Given the description of an element on the screen output the (x, y) to click on. 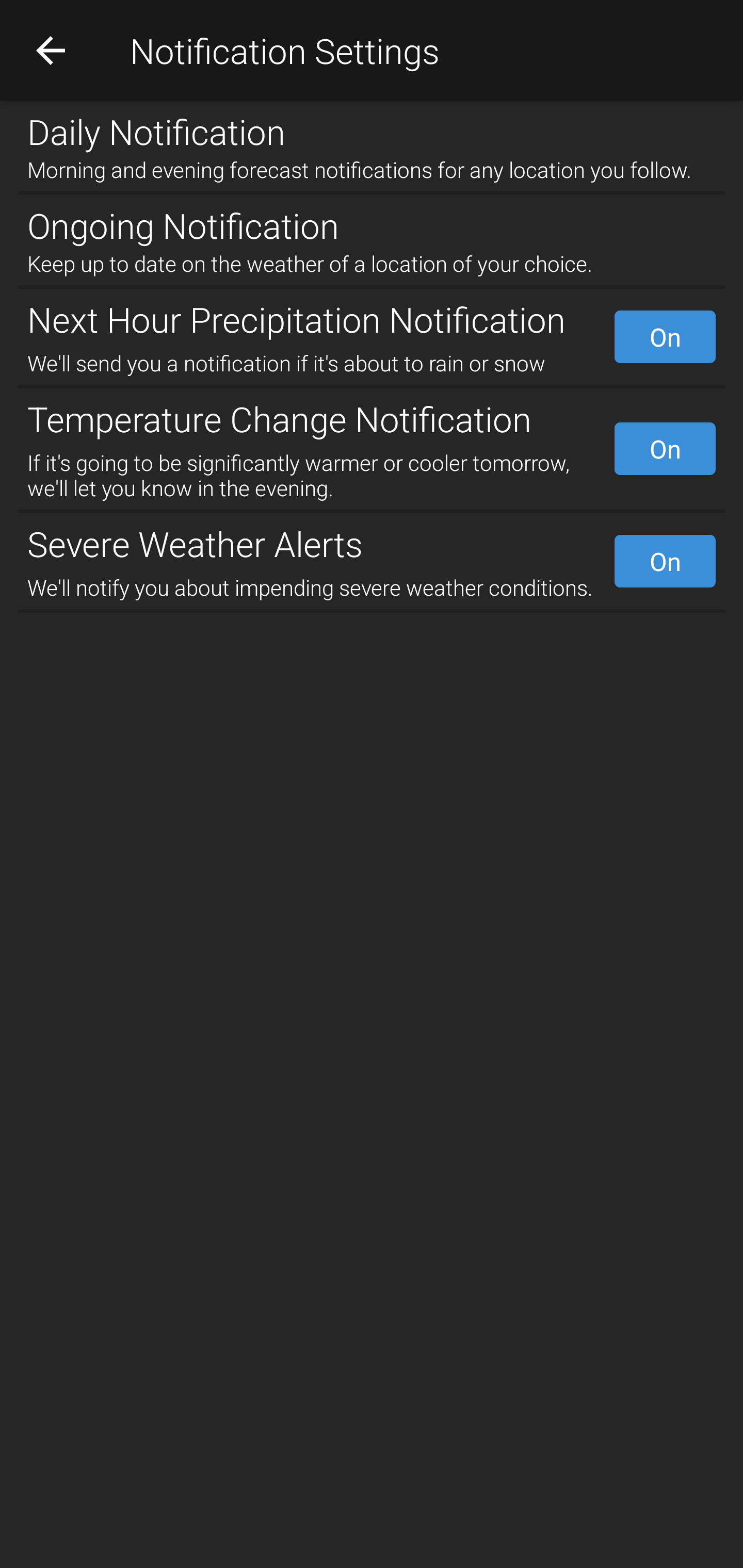
Navigate up (50, 50)
Daily Notification (371, 127)
Ongoing Notification (371, 221)
On (664, 336)
On (664, 448)
On (664, 561)
